Given the description of an element on the screen output the (x, y) to click on. 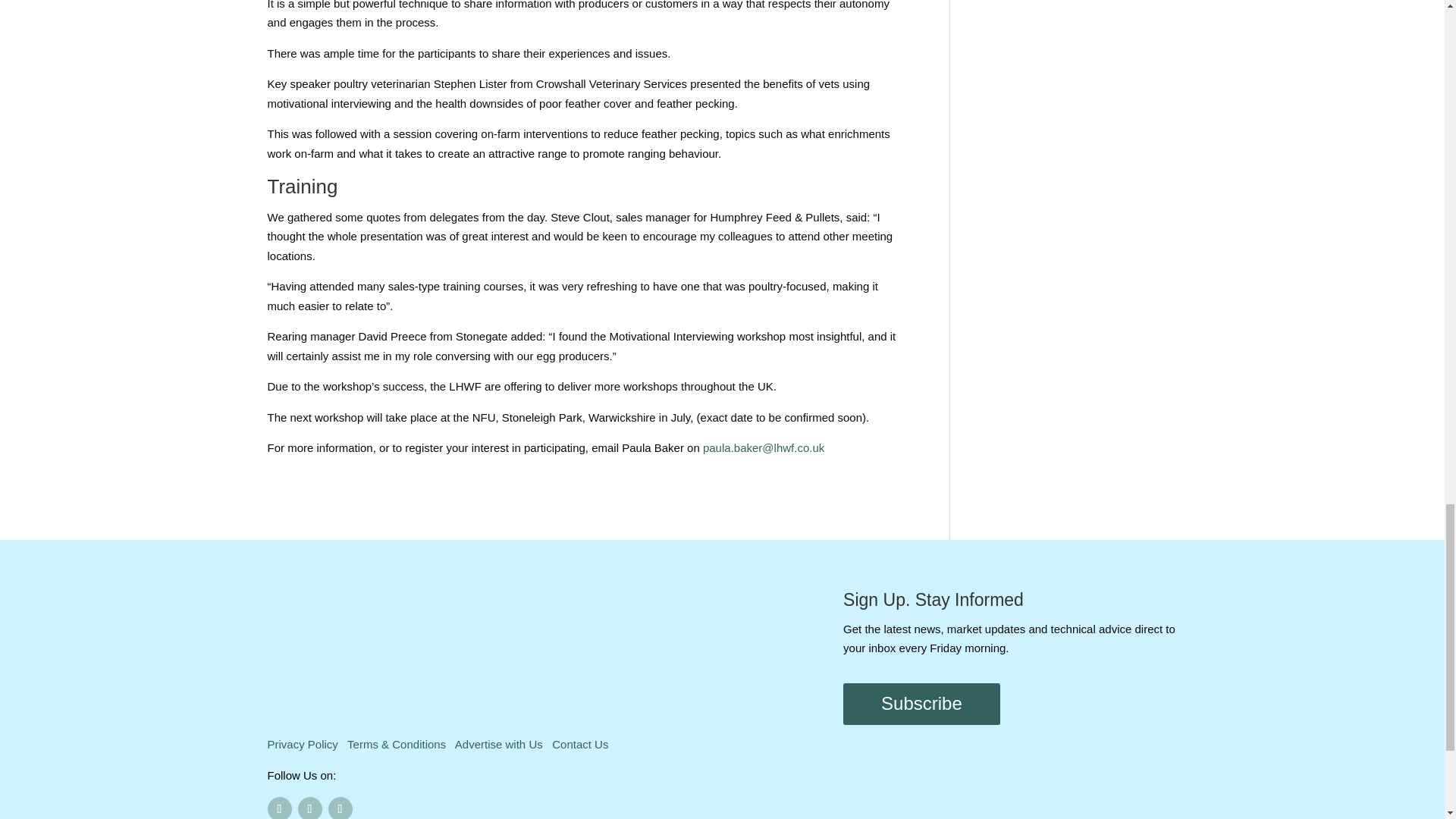
Subscribe (921, 703)
Privacy Policy (301, 744)
Advertise with Us (498, 744)
Follow on LinkedIn (339, 807)
Contact Us (579, 744)
Follow on Facebook (278, 807)
Follow on Twitter (309, 807)
